Given the description of an element on the screen output the (x, y) to click on. 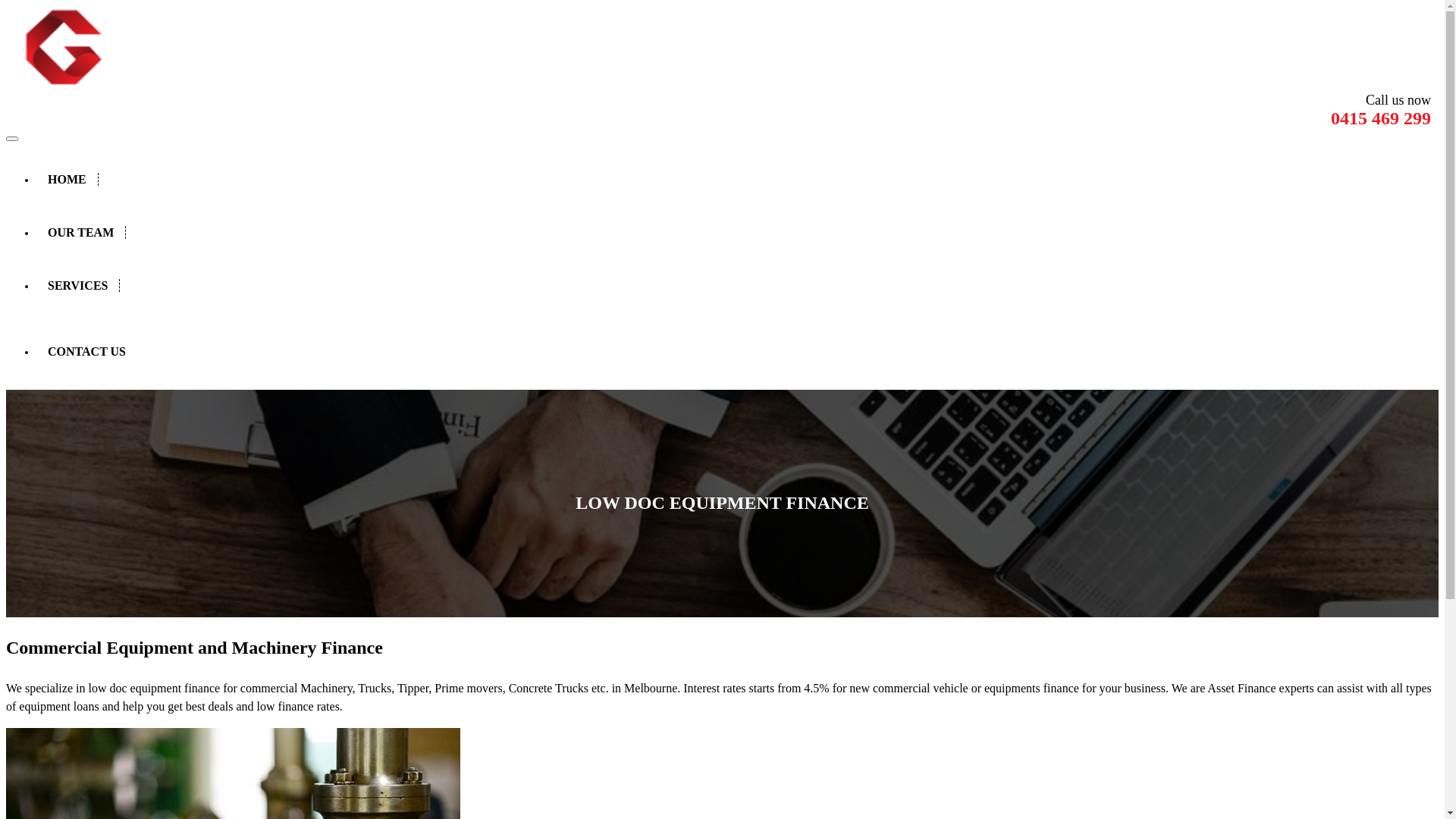
SERVICES Element type: text (77, 285)
CONTACT US Element type: text (86, 351)
Business Finance Element type: text (776, 305)
Commercial Vehicle Finance Element type: text (803, 305)
0415 469 299 Element type: text (1380, 118)
Trailer and Truck Finance Element type: text (796, 305)
Bus Finance Element type: text (765, 305)
Low Doc Equipment Finance Element type: text (804, 305)
OUR TEAM Element type: text (80, 231)
Home Loans Element type: text (766, 305)
HOME Element type: text (67, 178)
